Given the description of an element on the screen output the (x, y) to click on. 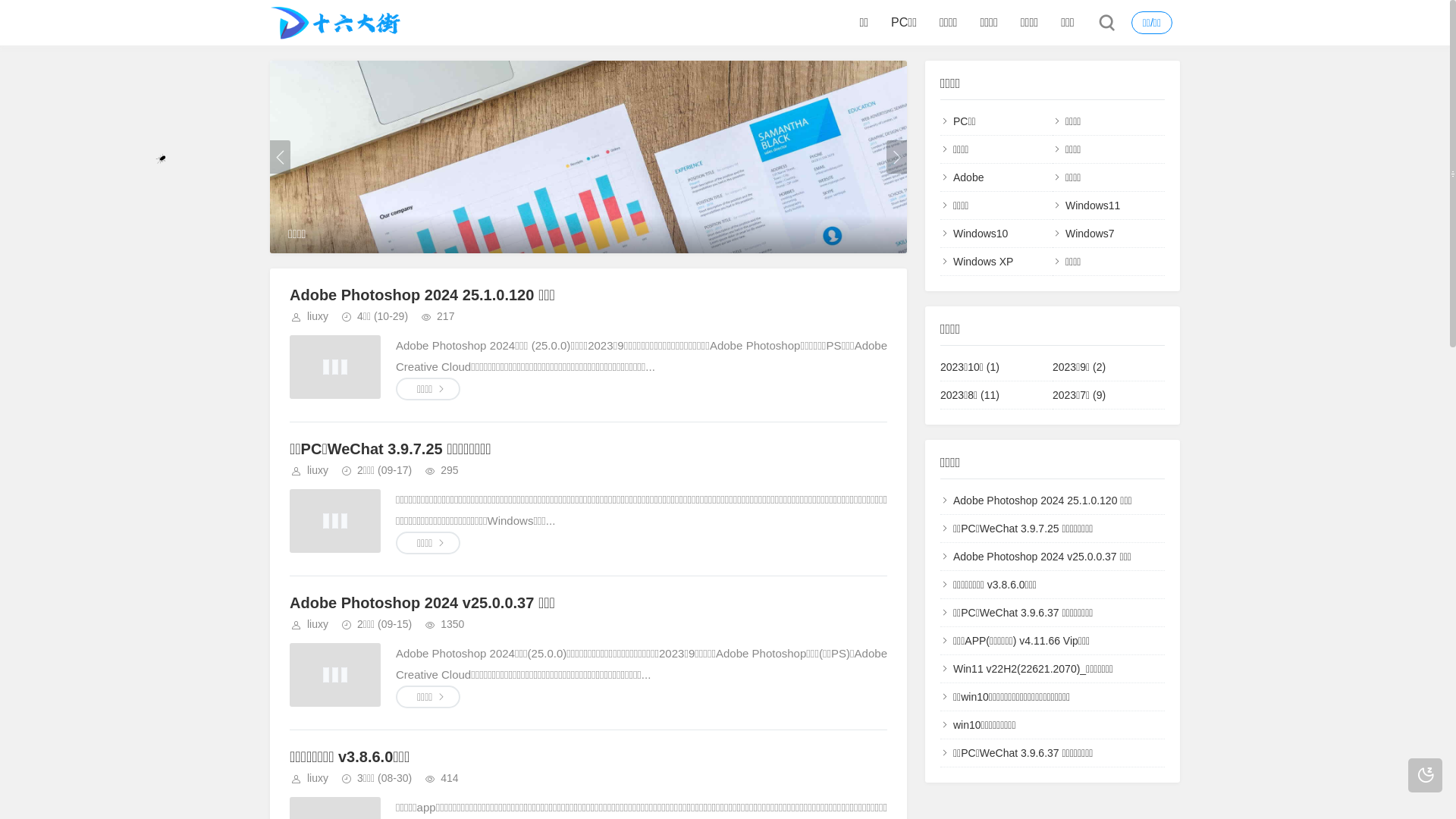
liuxy Element type: text (317, 316)
liuxy Element type: text (317, 777)
Windows XP Element type: text (983, 261)
Windows11 Element type: text (1092, 205)
liuxy Element type: text (317, 470)
Adobe Element type: text (968, 177)
Windows10 Element type: text (980, 233)
Windows7 Element type: text (1089, 233)
liuxy Element type: text (317, 624)
